Given the description of an element on the screen output the (x, y) to click on. 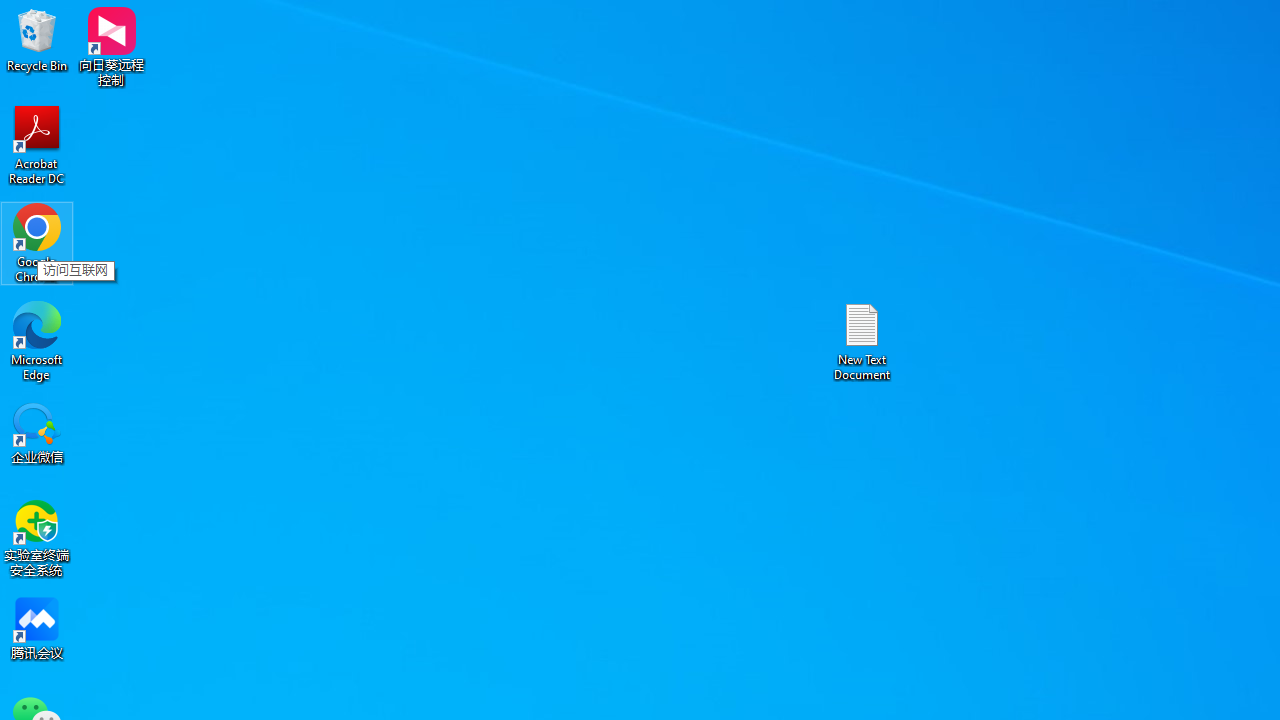
Google Chrome (37, 242)
New Text Document (861, 340)
Microsoft Edge (37, 340)
Recycle Bin (37, 39)
Acrobat Reader DC (37, 144)
